Given the description of an element on the screen output the (x, y) to click on. 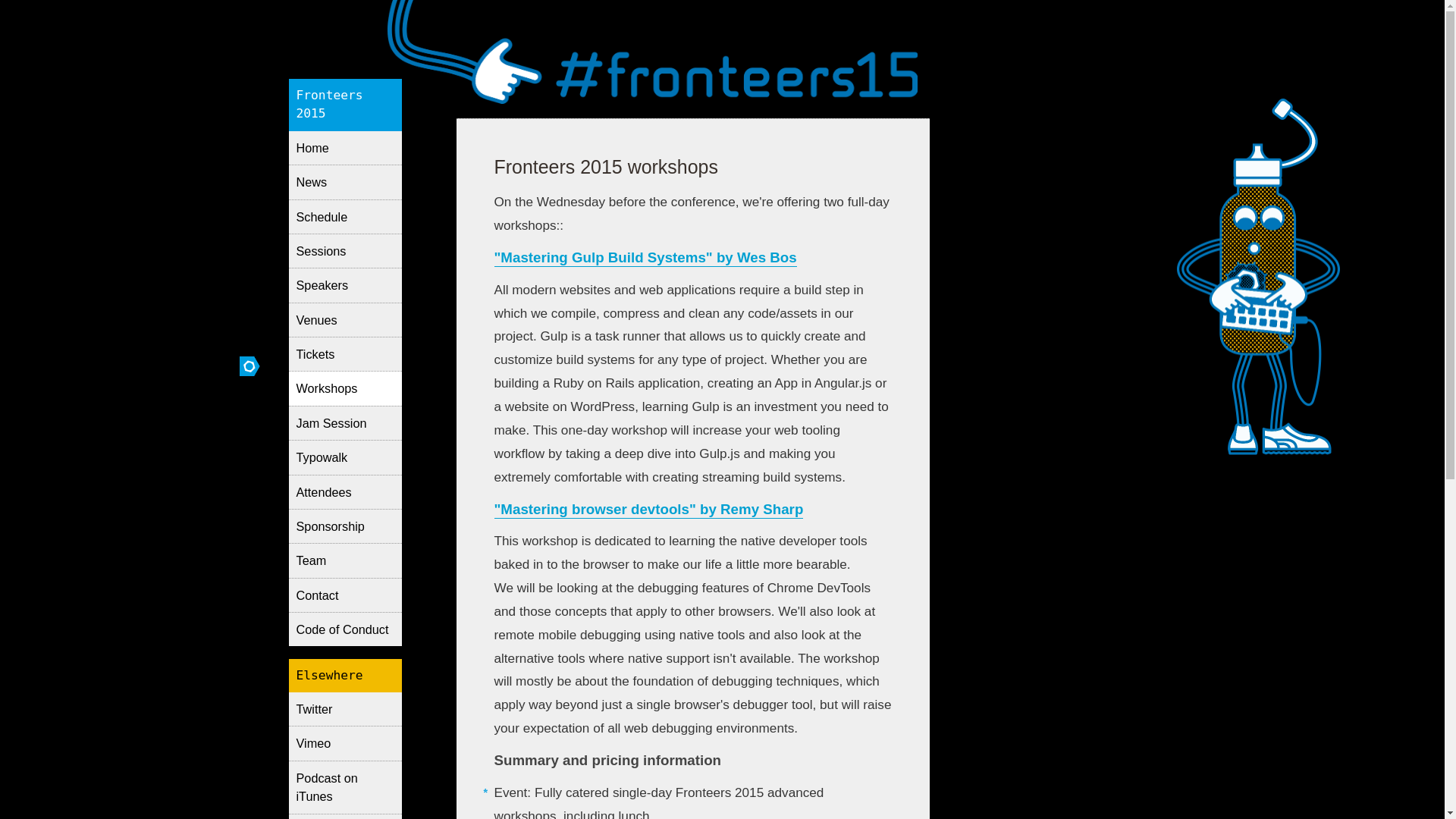
Fronteers 2015 Jam Session (344, 422)
Workshops (344, 387)
Fronteers 2015 attendees (344, 491)
Venues (344, 319)
"Mastering Gulp Build Systems" by Wes Bos (645, 257)
Fronteers 2015 venues (344, 319)
Podcast on iTunes (344, 787)
Fronteers 2015 speakers (344, 284)
Fronteers 2015 typowalk (344, 456)
Code of Conduct (344, 628)
Fronteers 2015 Code of Conduct (344, 628)
Sponsorship (344, 525)
Fronteers 2015 workshops (344, 387)
Fronteers 2015 schedule (344, 215)
Jam Session (344, 422)
